Given the description of an element on the screen output the (x, y) to click on. 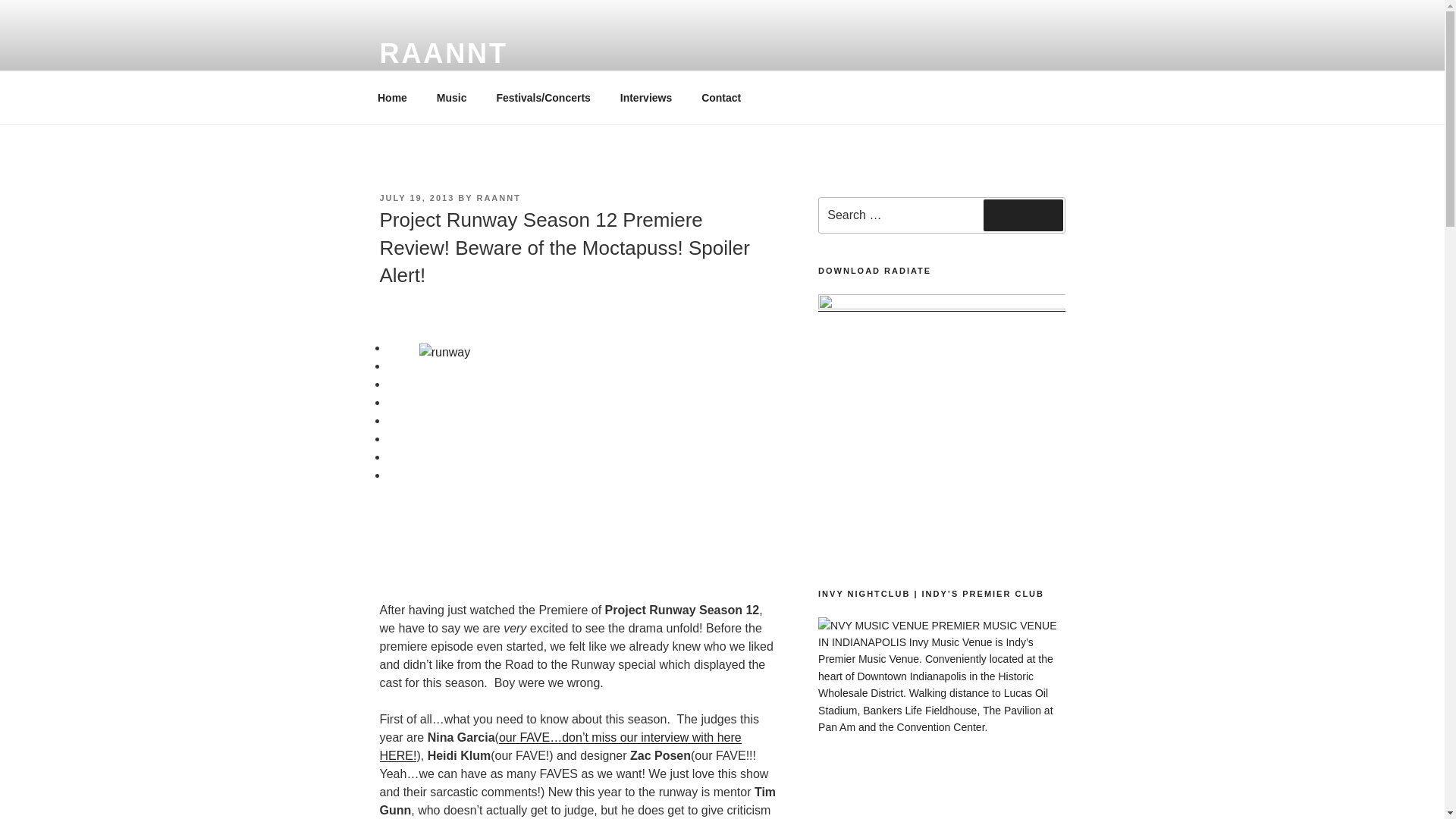
RAANNT (442, 52)
Contact (721, 97)
JULY 19, 2013 (416, 197)
Contact (721, 97)
Music (451, 97)
Interviews (645, 97)
RAANNT (497, 197)
Home (392, 97)
Search (1023, 214)
